Given the description of an element on the screen output the (x, y) to click on. 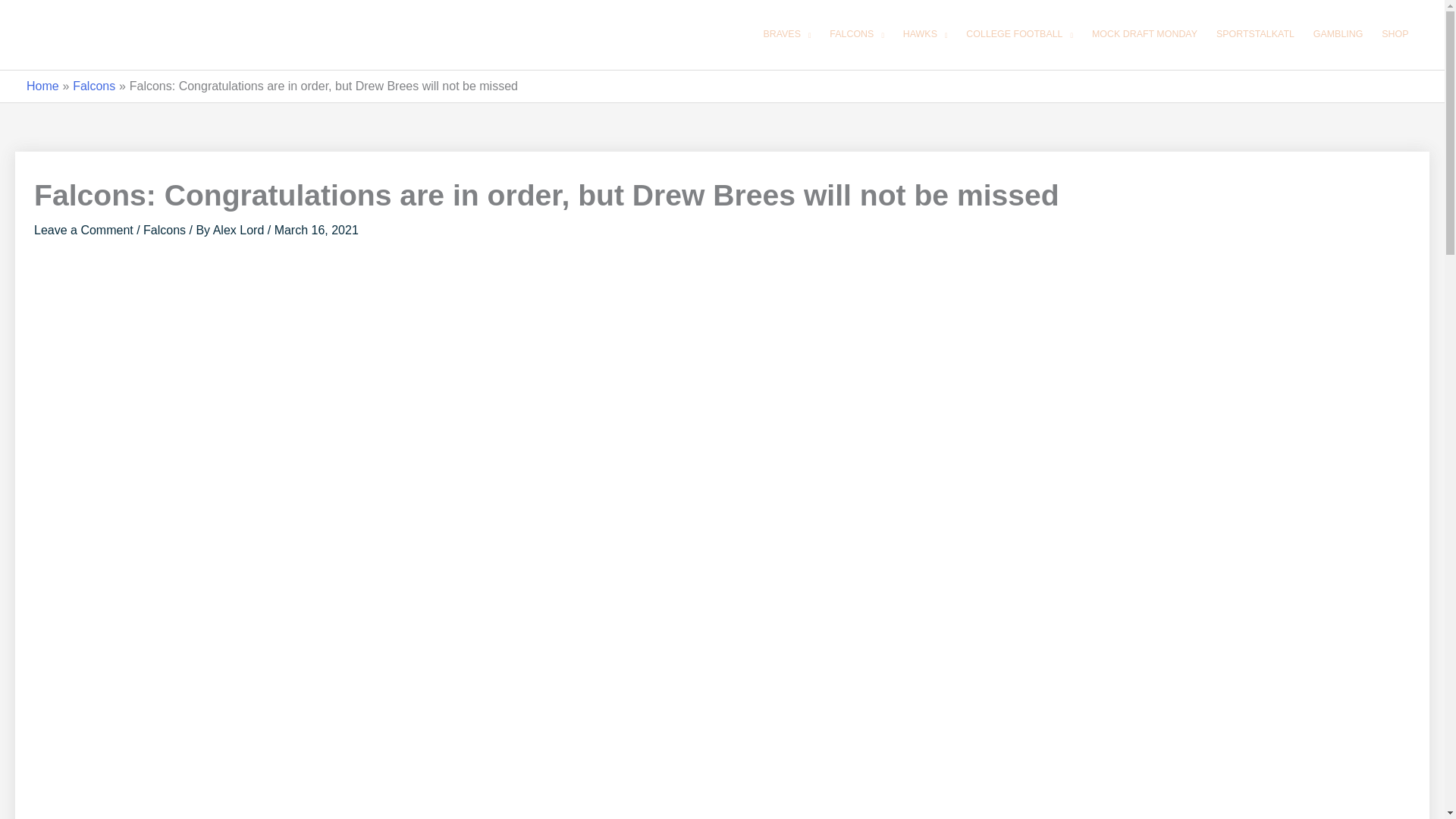
BRAVES (787, 34)
View all posts by Alex Lord (239, 229)
FALCONS (857, 34)
SPORTSTALKATL (1255, 34)
COLLEGE FOOTBALL (1019, 34)
HAWKS (924, 34)
GAMBLING (1338, 34)
MOCK DRAFT MONDAY (1144, 34)
